Given the description of an element on the screen output the (x, y) to click on. 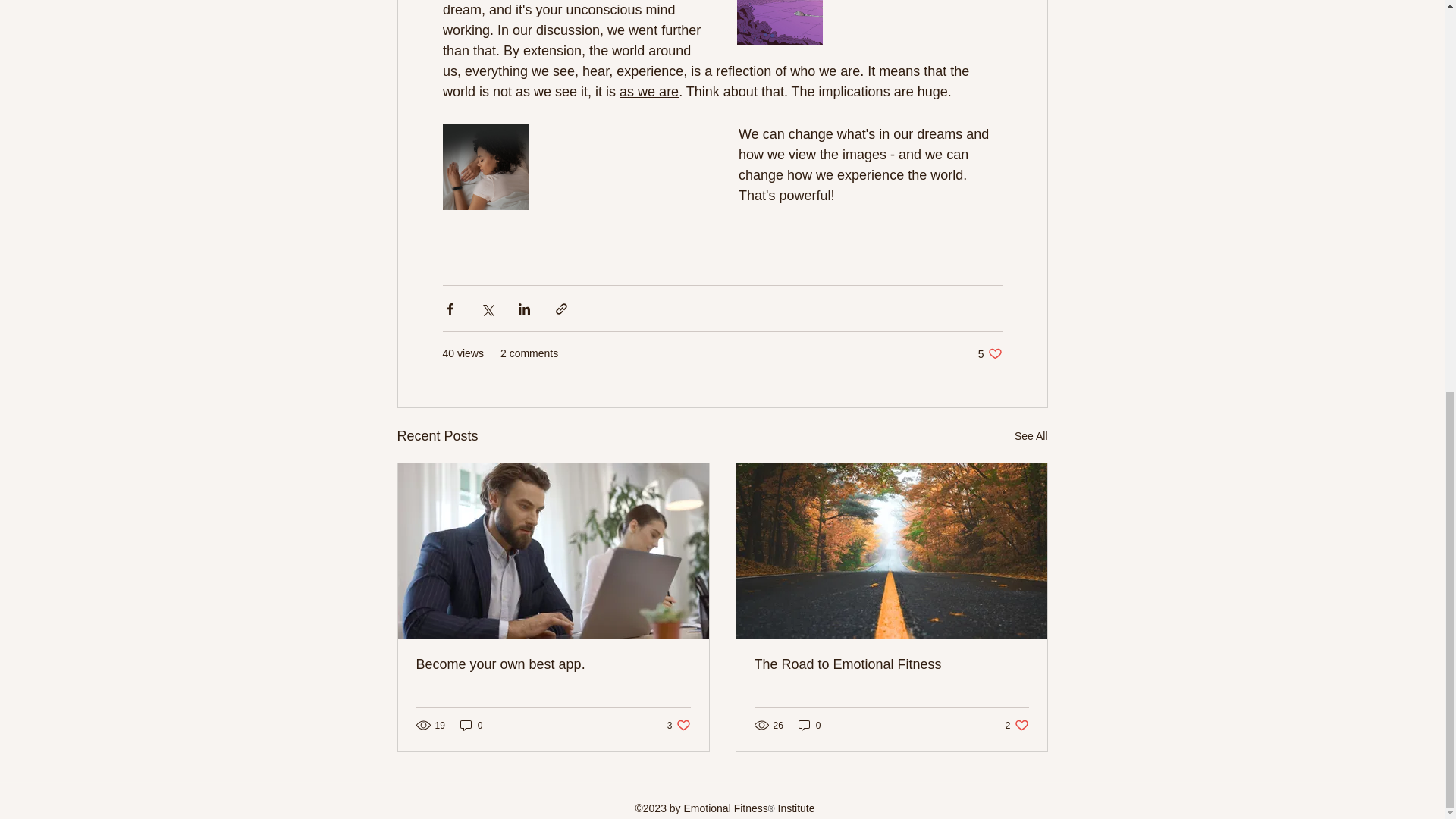
Become your own best app. (552, 664)
0 (471, 725)
The Road to Emotional Fitness (990, 353)
0 (890, 664)
See All (809, 725)
